Given the description of an element on the screen output the (x, y) to click on. 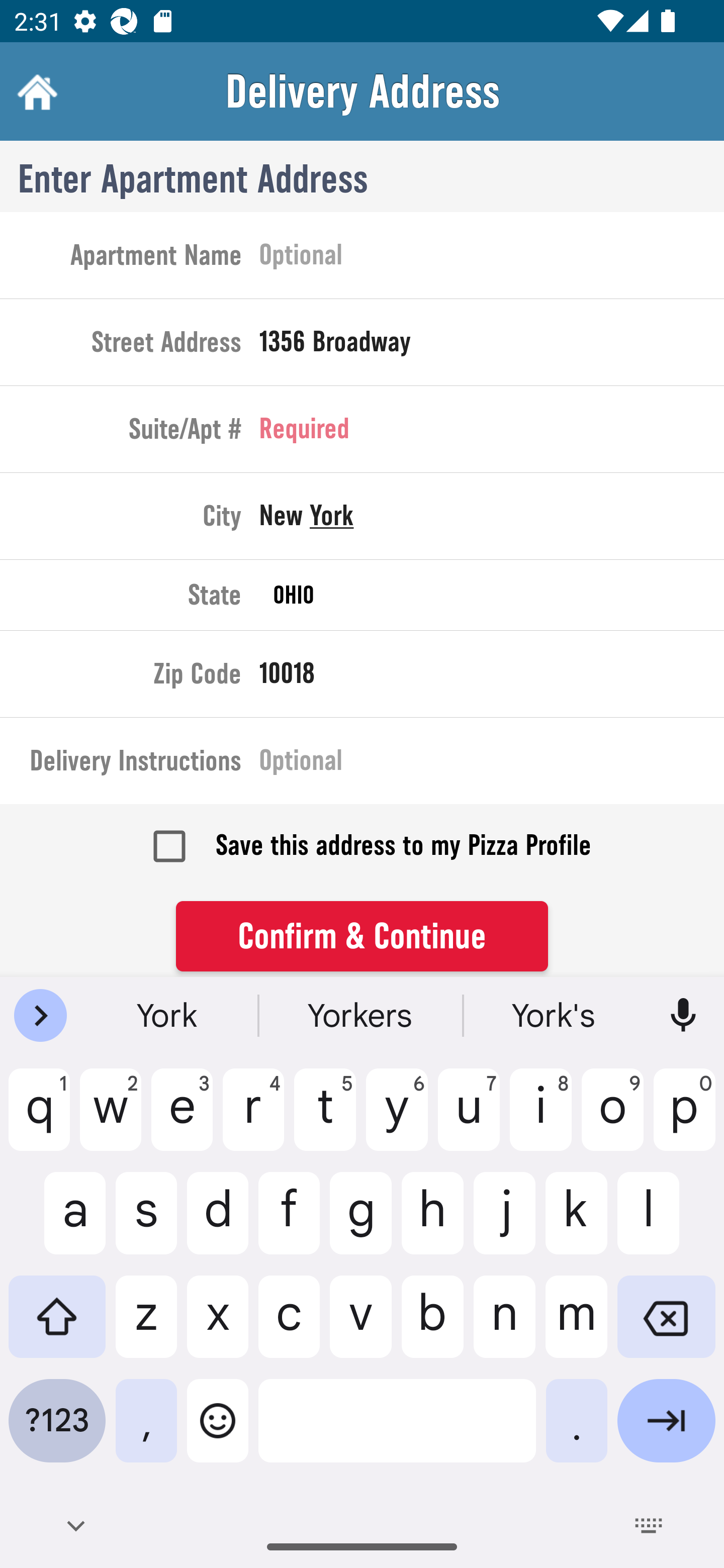
Home (35, 91)
Optional (491, 258)
1356 Broadway (491, 345)
Required (491, 432)
New York (491, 519)
OHIO (491, 594)
10018 (491, 677)
Optional (491, 764)
Confirm & Continue (361, 936)
